Given the description of an element on the screen output the (x, y) to click on. 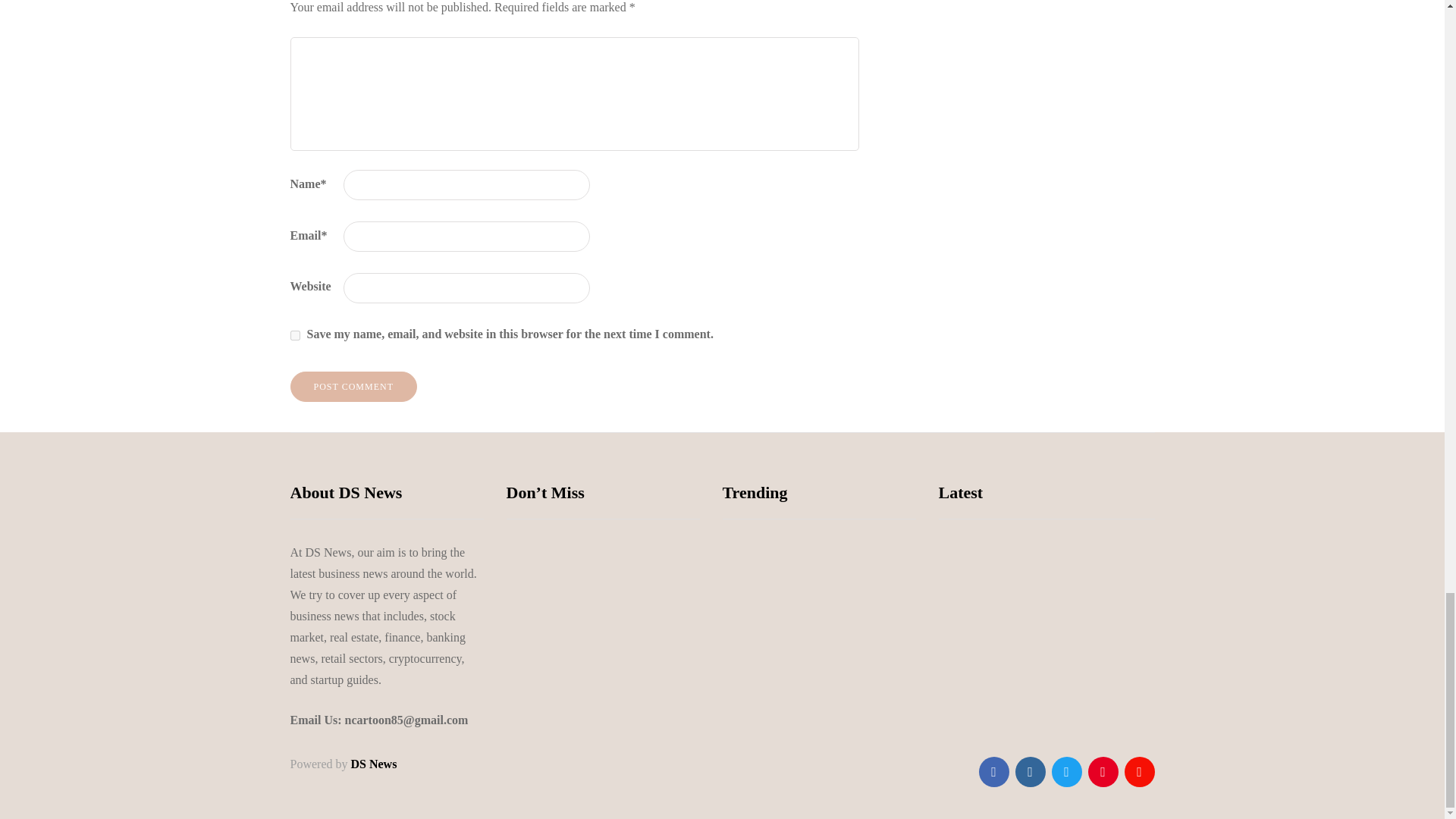
Post comment (352, 386)
yes (294, 335)
